Given the description of an element on the screen output the (x, y) to click on. 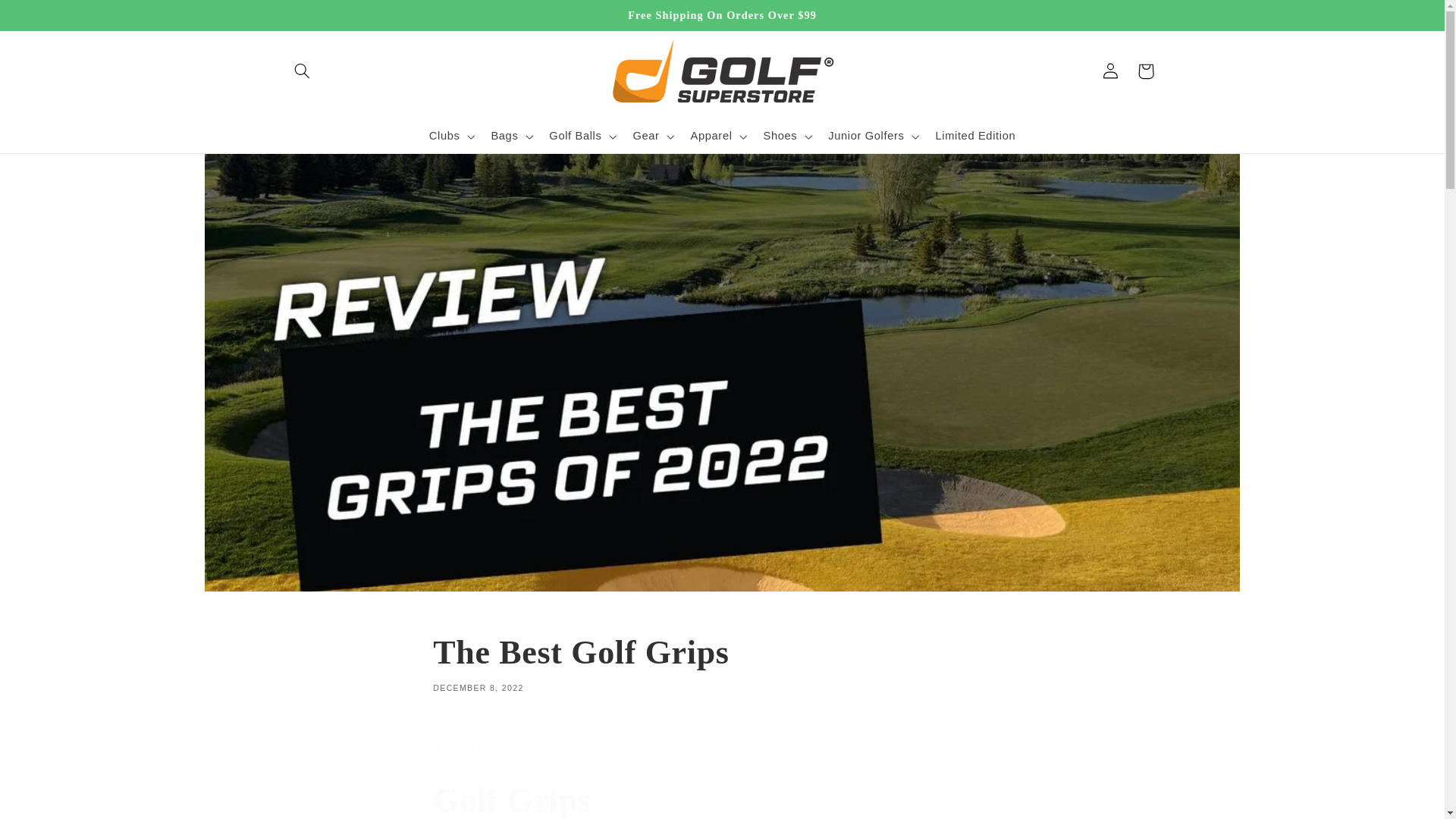
Skip to content (48, 18)
Share (721, 749)
